Given the description of an element on the screen output the (x, y) to click on. 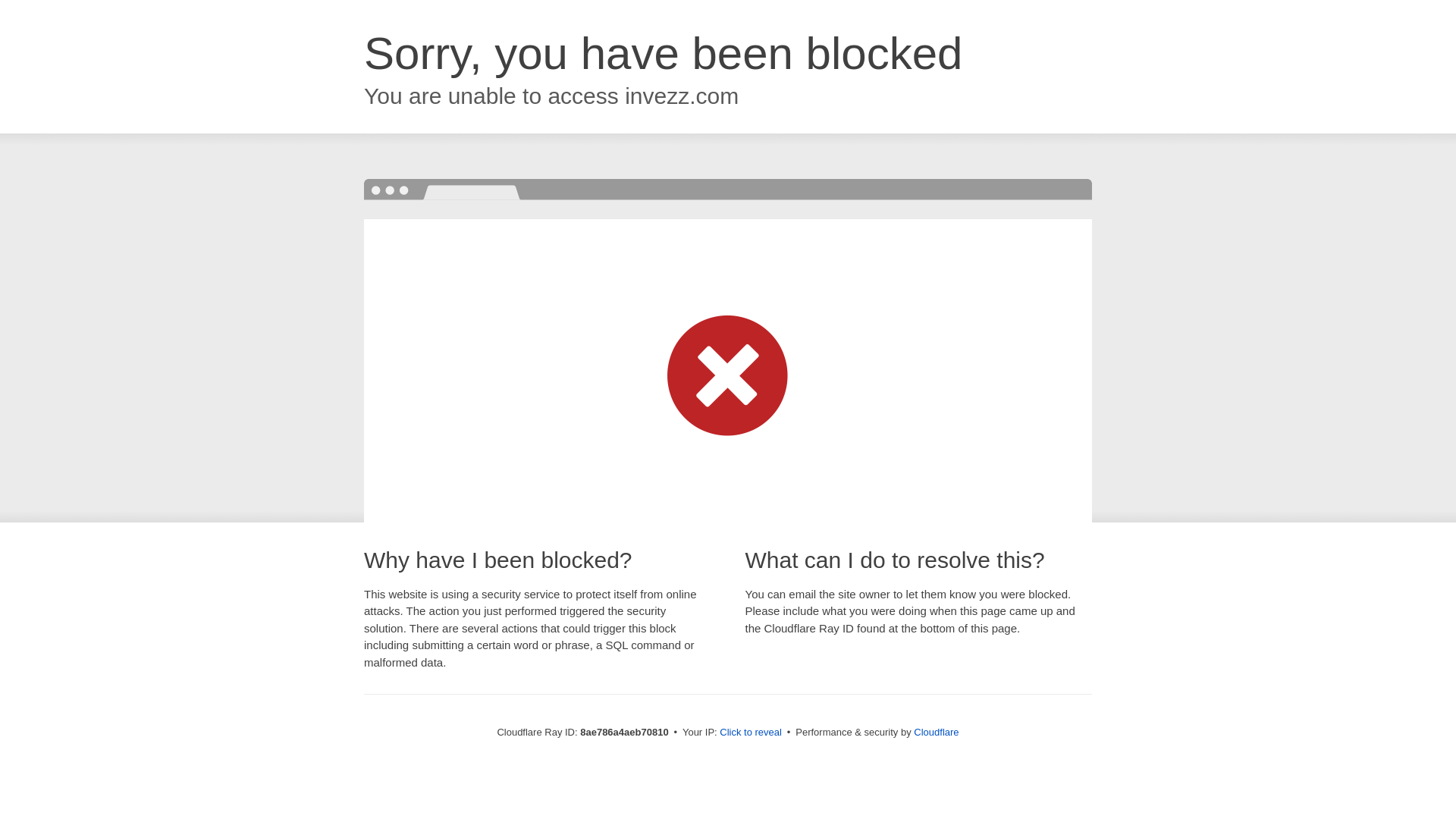
Click to reveal (750, 732)
Cloudflare (936, 731)
